Given the description of an element on the screen output the (x, y) to click on. 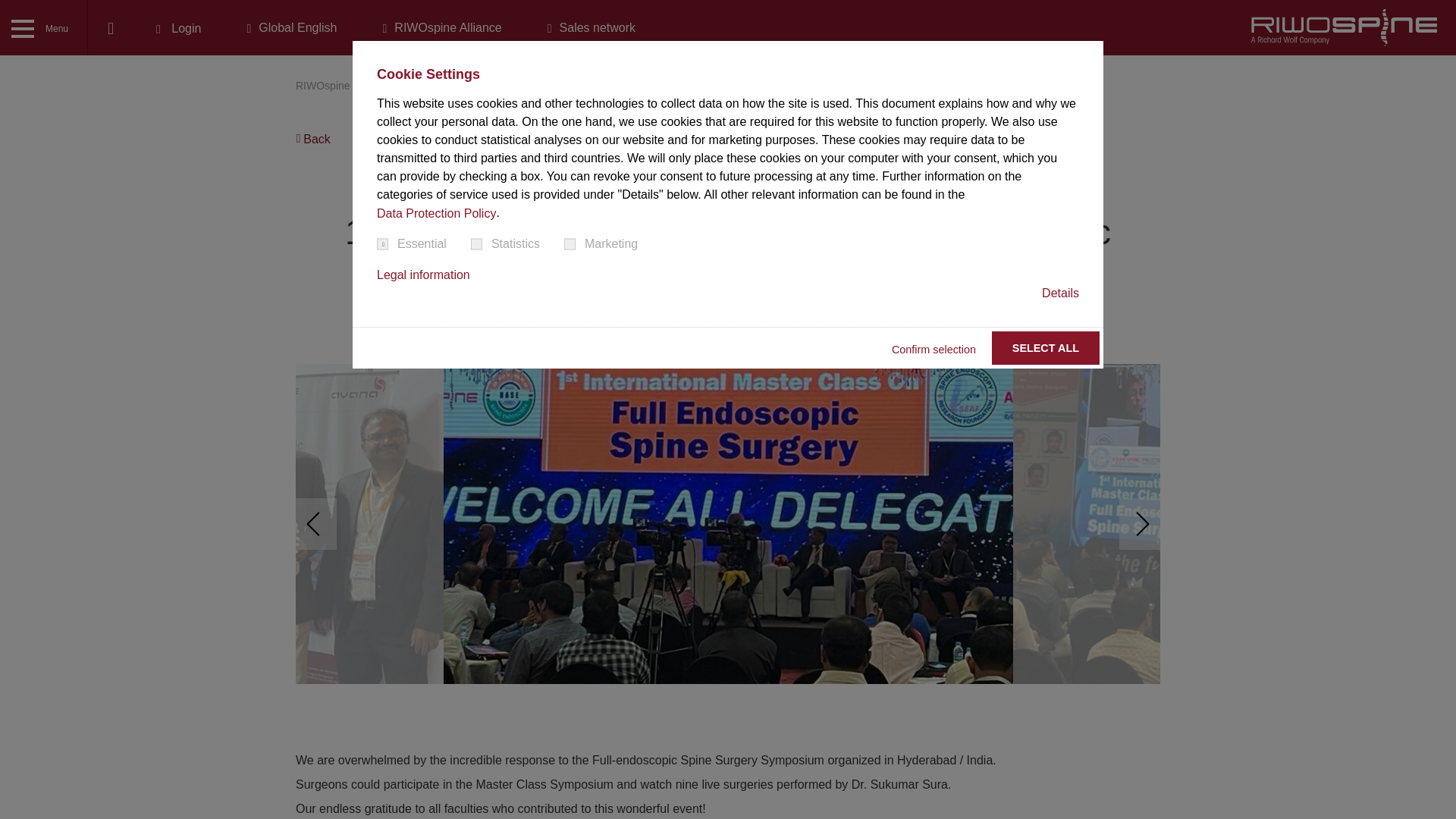
Confirm selection (932, 349)
Legal information (423, 275)
Details (1060, 293)
SELECT ALL (1045, 347)
Data Protection Policy (436, 213)
